Given the description of an element on the screen output the (x, y) to click on. 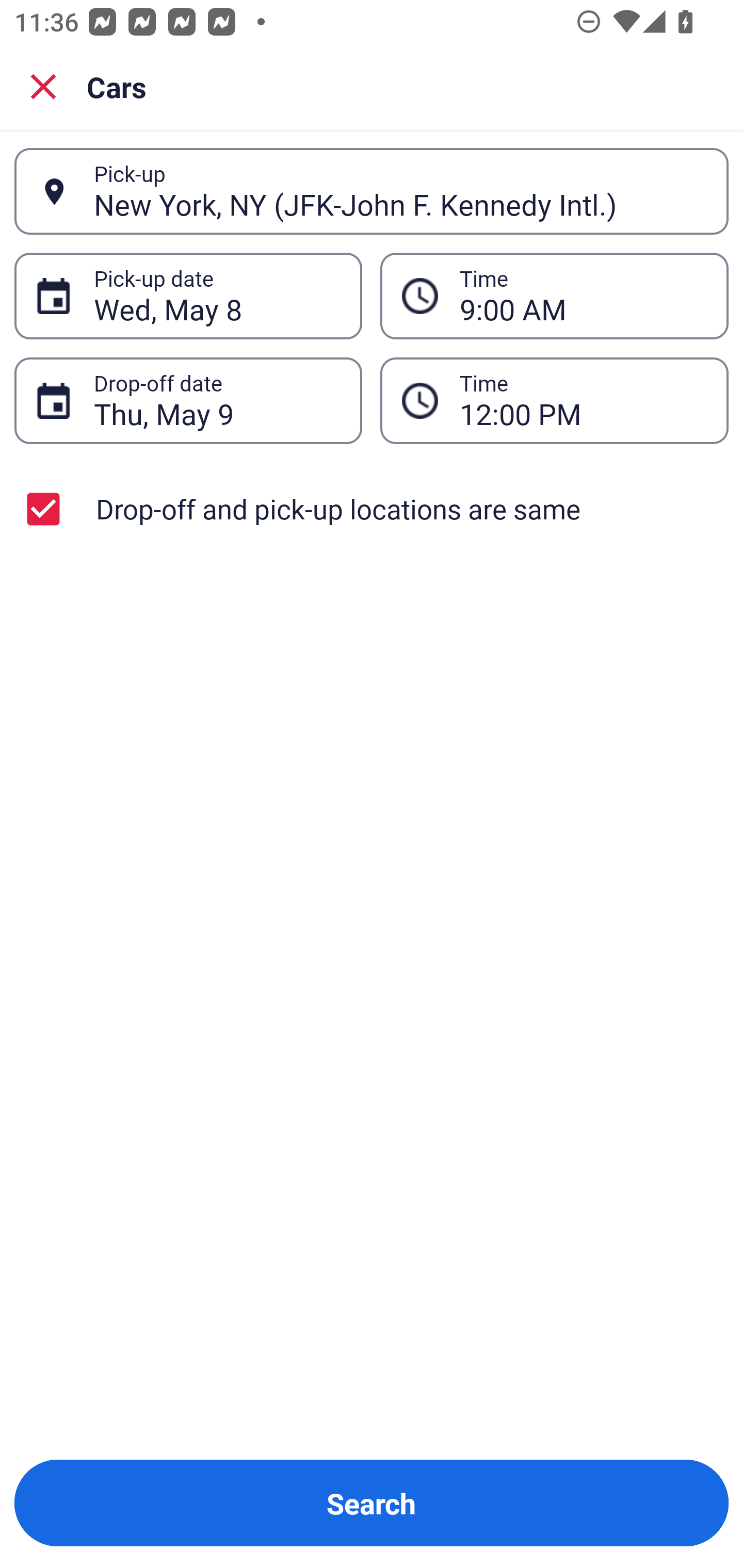
Close search screen (43, 86)
New York, NY (JFK-John F. Kennedy Intl.) Pick-up (371, 191)
New York, NY (JFK-John F. Kennedy Intl.) (399, 191)
Wed, May 8 Pick-up date (188, 295)
9:00 AM (554, 295)
Wed, May 8 (216, 296)
9:00 AM (582, 296)
Thu, May 9 Drop-off date (188, 400)
12:00 PM (554, 400)
Thu, May 9 (216, 400)
12:00 PM (582, 400)
Drop-off and pick-up locations are same (371, 508)
Search Button Search (371, 1502)
